Given the description of an element on the screen output the (x, y) to click on. 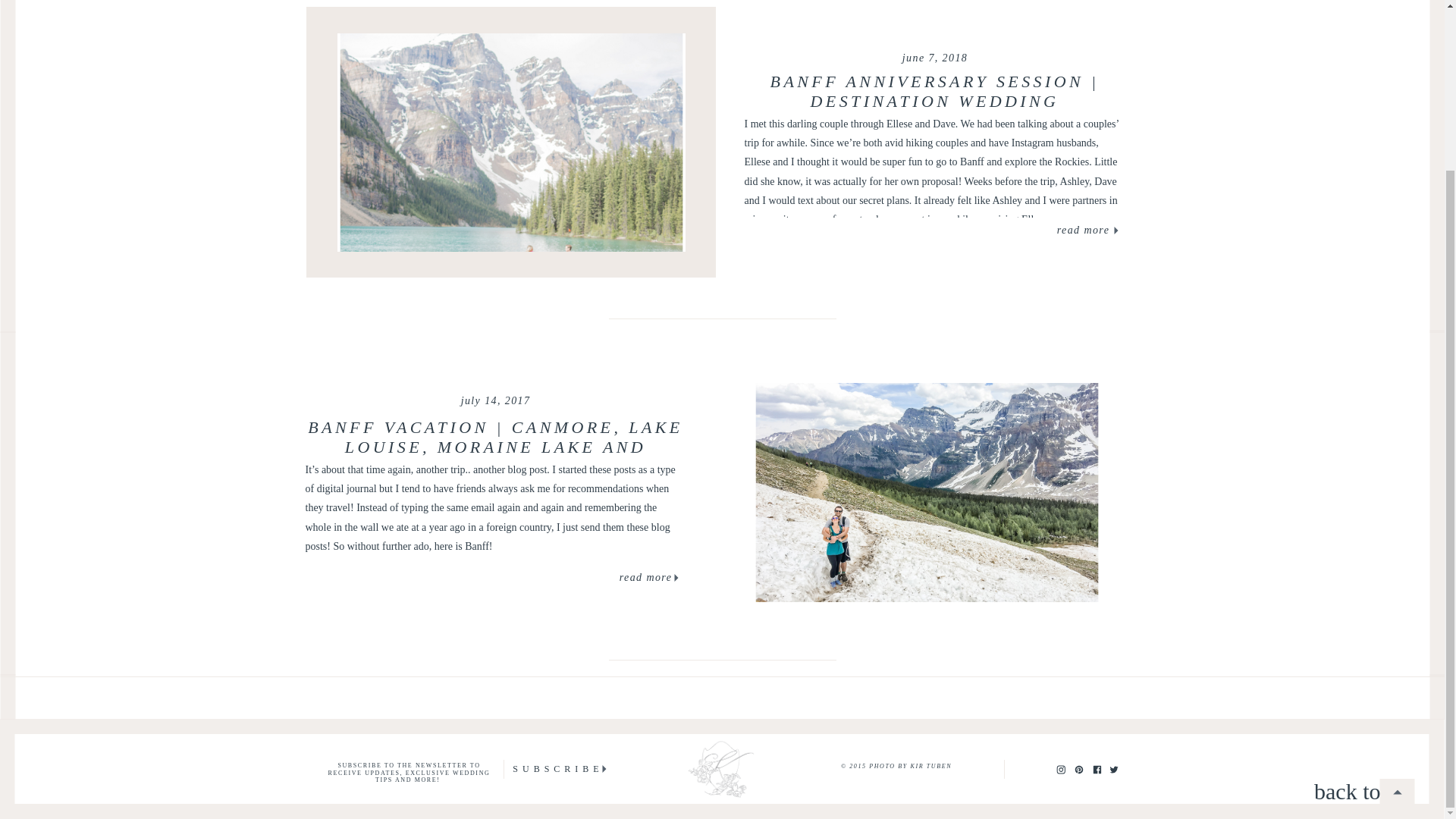
read more (646, 578)
Instagram-color Created with Sketch. (1059, 768)
Facebook Copy-color Created with Sketch. (1096, 768)
read more (1083, 231)
Facebook Copy-color Created with Sketch. (1096, 768)
SUBSCRIBE (558, 768)
Instagram-color Created with Sketch. (1059, 768)
